Given the description of an element on the screen output the (x, y) to click on. 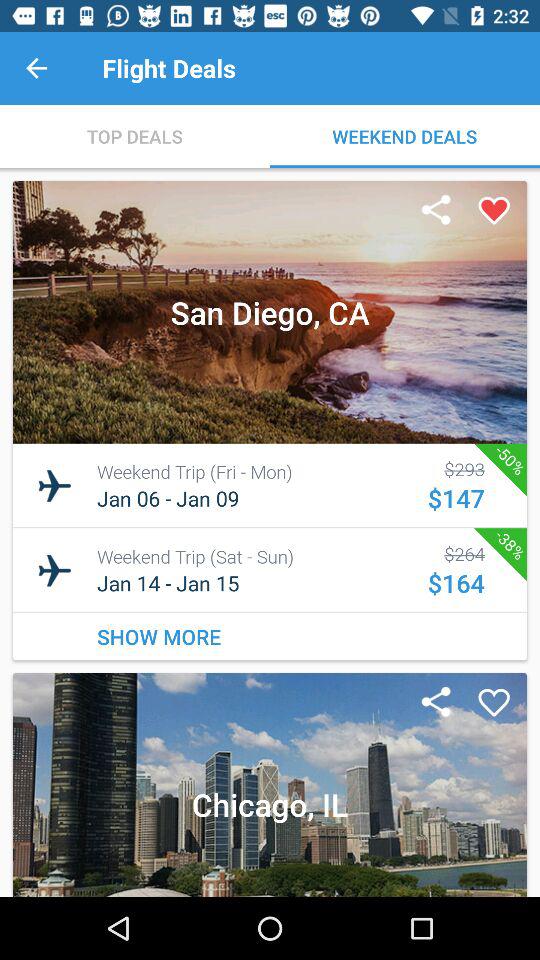
favorite the destination (494, 211)
